Given the description of an element on the screen output the (x, y) to click on. 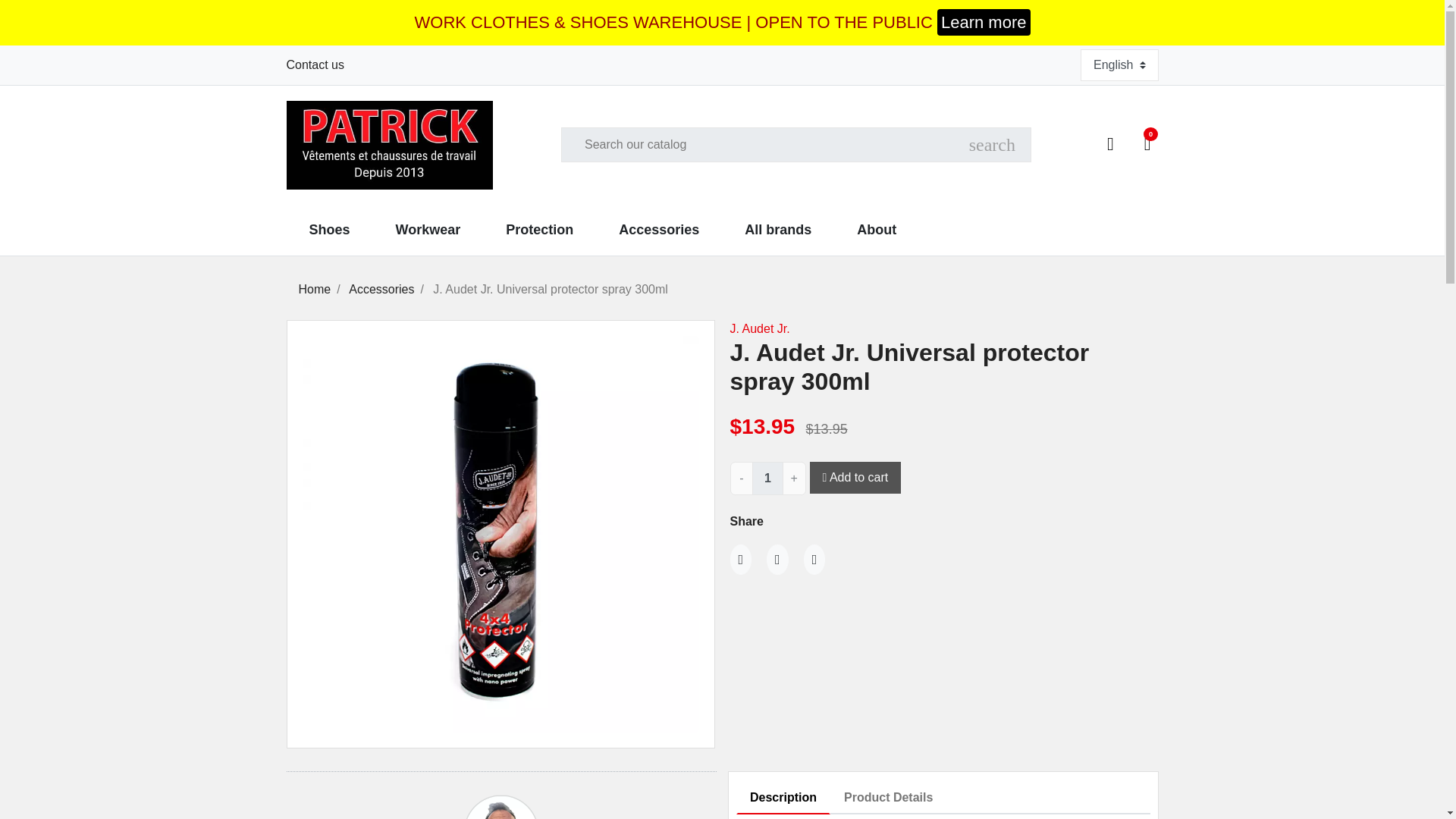
Contact us (314, 64)
Shoes (329, 229)
Workwear (427, 229)
1 (767, 478)
Learn more (983, 22)
Protection (539, 229)
search (991, 144)
